Given the description of an element on the screen output the (x, y) to click on. 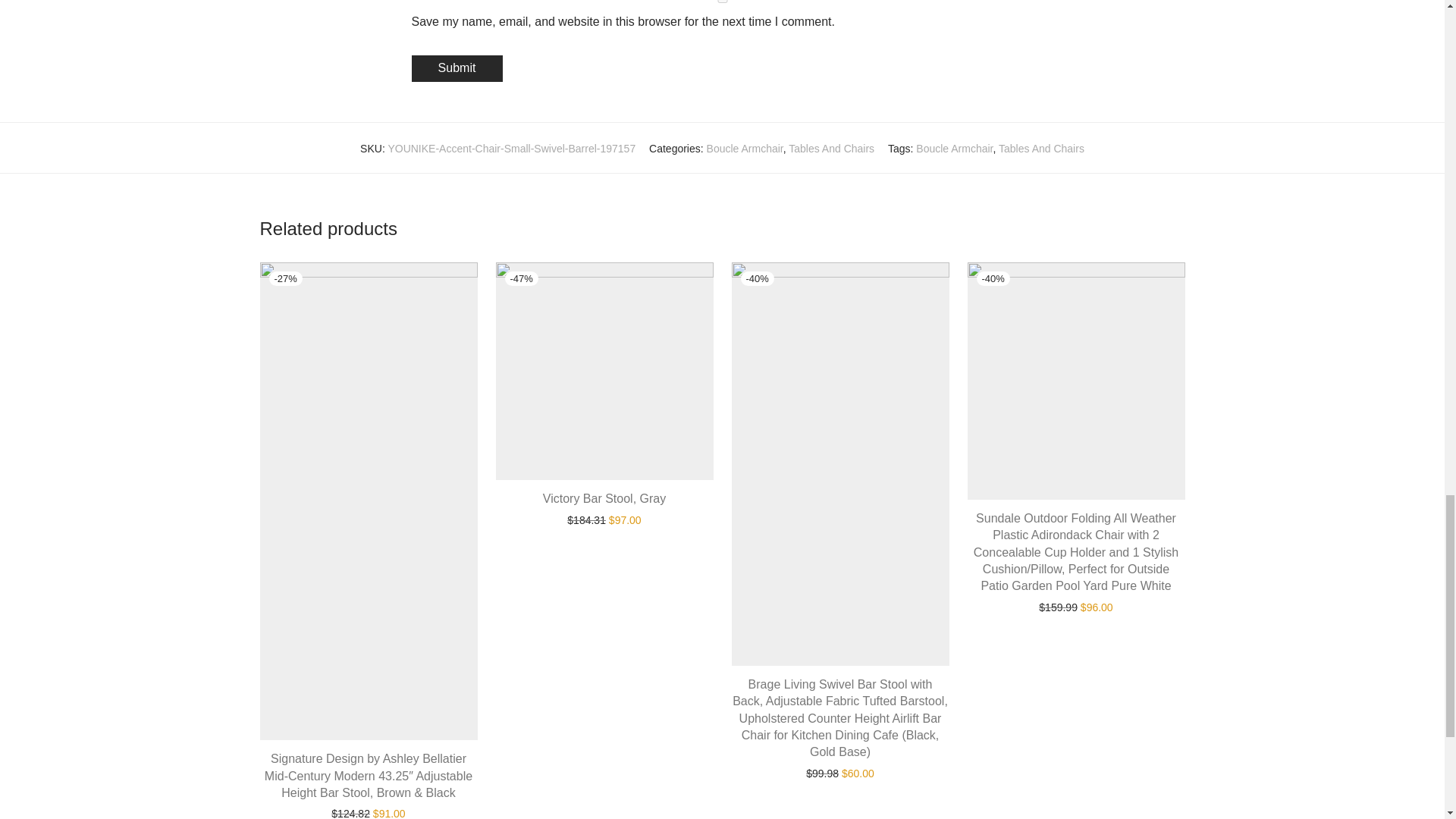
Tables And Chairs (832, 148)
Submit (456, 68)
Boucle Armchair (744, 148)
Victory Bar Stool, Gray (604, 498)
Submit (456, 68)
Boucle Armchair (953, 148)
Tables And Chairs (1041, 148)
